Given the description of an element on the screen output the (x, y) to click on. 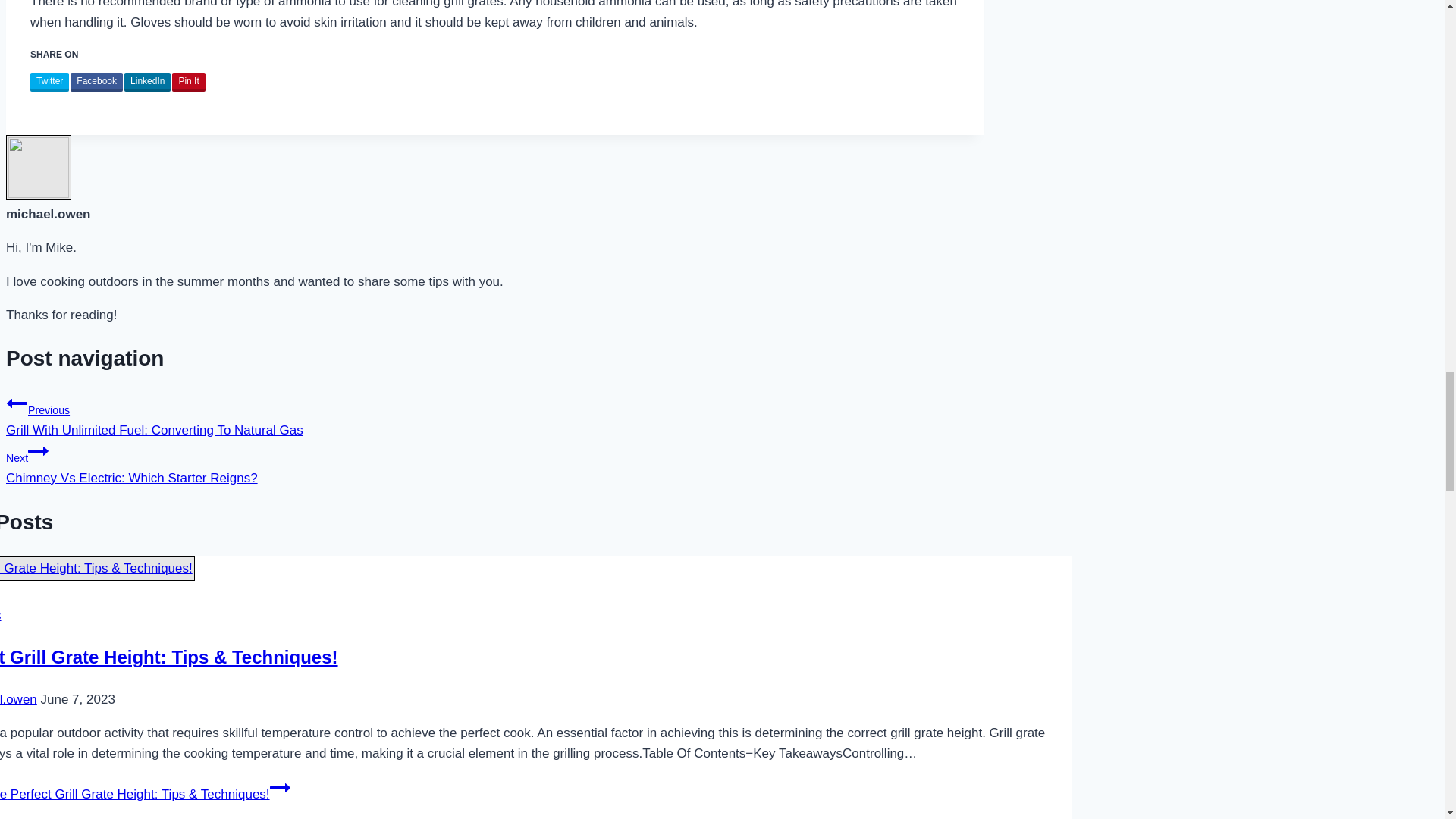
Pin It (494, 462)
Continue (188, 81)
Twitter (37, 450)
LinkedIn (49, 81)
Previous (146, 81)
Continue (16, 403)
Facebook (279, 787)
michael.owen (95, 81)
